Given the description of an element on the screen output the (x, y) to click on. 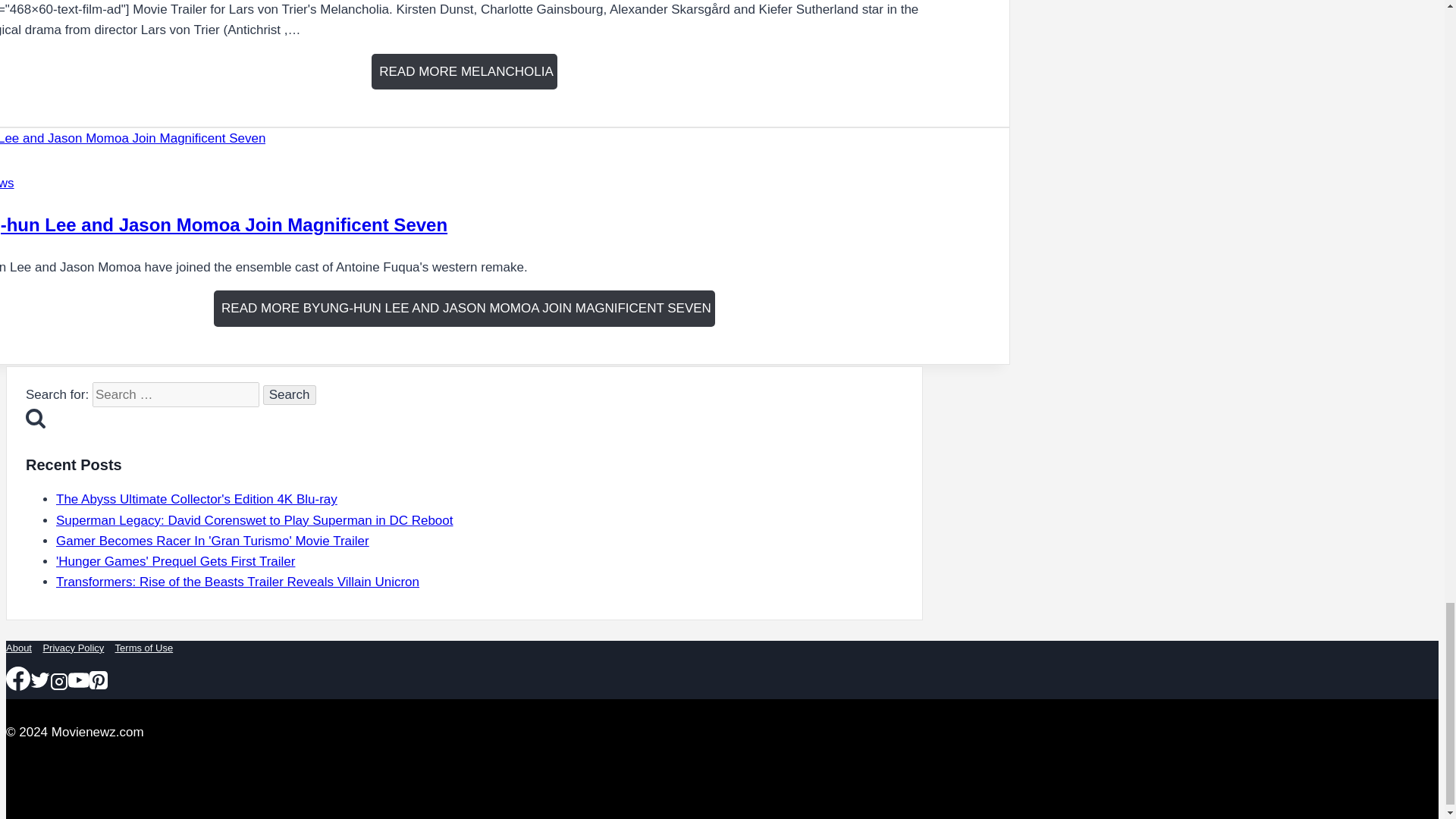
Twitter (39, 680)
Search (289, 394)
Search (35, 417)
Facebook (17, 678)
Search (289, 394)
Instagram (58, 681)
Pinterest (97, 680)
YouTube (78, 680)
